Given the description of an element on the screen output the (x, y) to click on. 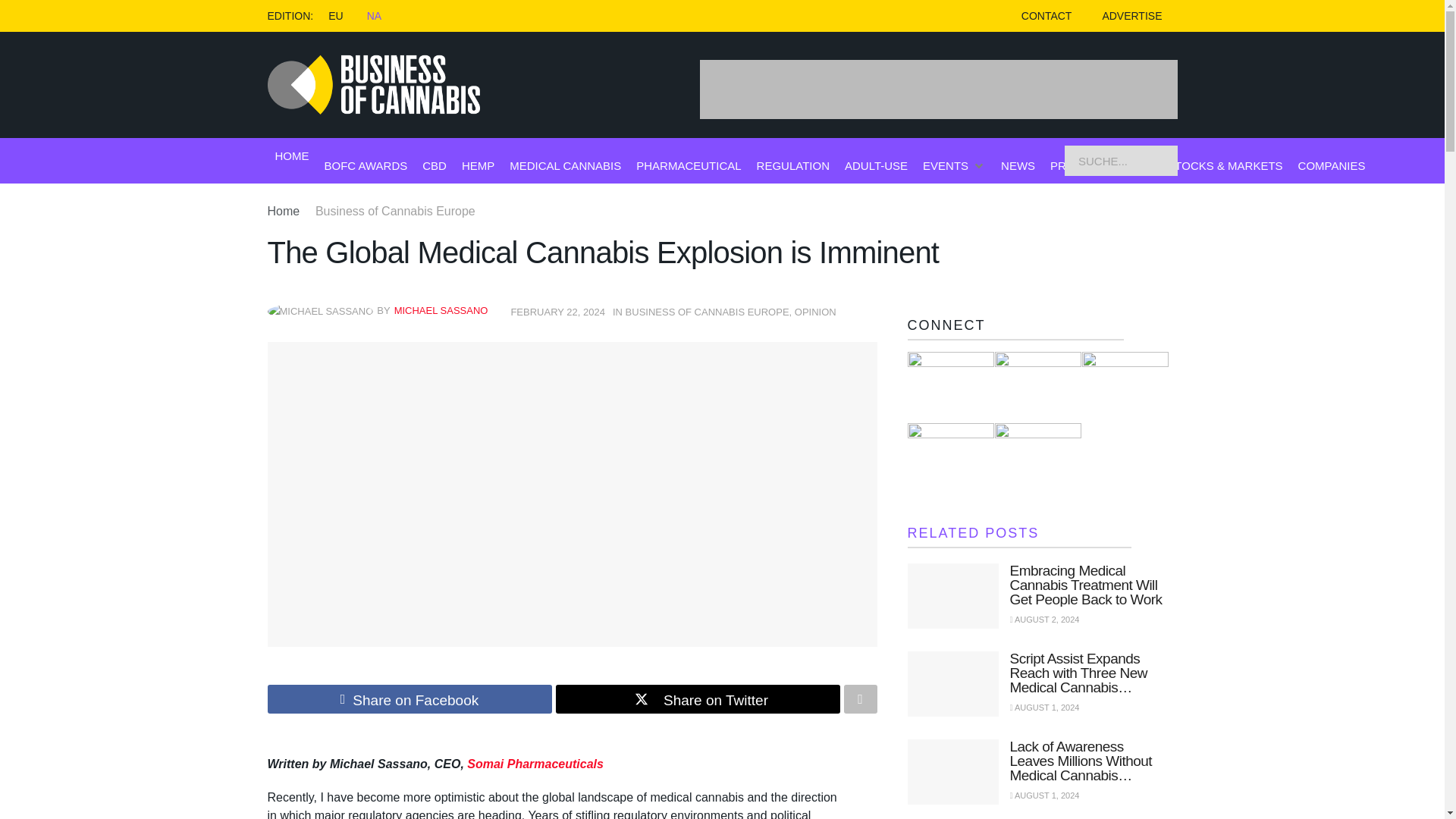
COMPANIES (1331, 165)
MEDICAL CANNABIS (565, 165)
REGULATION (793, 165)
CBD (434, 165)
BUSINESS OF CANNABIS EUROPE (707, 311)
FEBRUARY 22, 2024 (558, 311)
ADVERTISE (1131, 15)
OPINION (814, 311)
Share on Facebook (408, 698)
EVENTS (945, 165)
HEMP (478, 165)
Home (282, 210)
CONTACT (1046, 15)
HOME (291, 156)
ADULT-USE (875, 165)
